Given the description of an element on the screen output the (x, y) to click on. 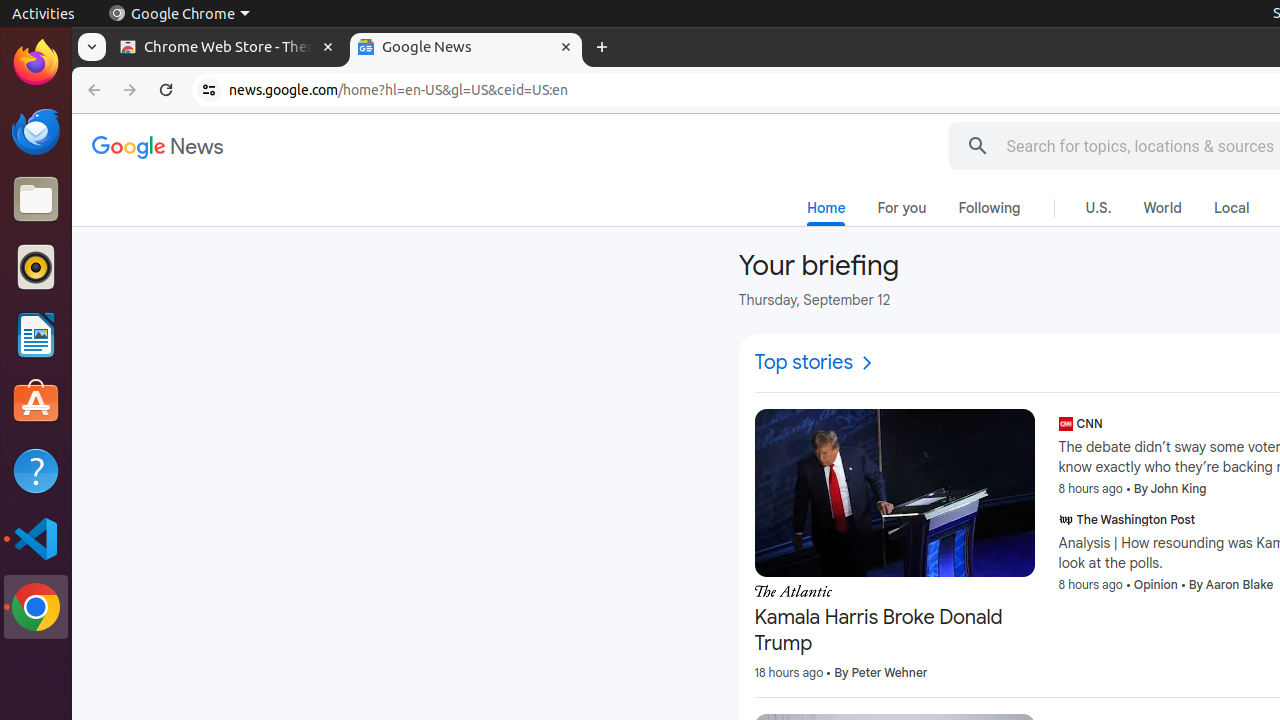
View site information Element type: push-button (209, 90)
Top stories Element type: link (815, 363)
LibreOffice Writer Element type: push-button (36, 334)
Thunderbird Mail Element type: push-button (36, 131)
Home Element type: menu-item (826, 212)
